Given the description of an element on the screen output the (x, y) to click on. 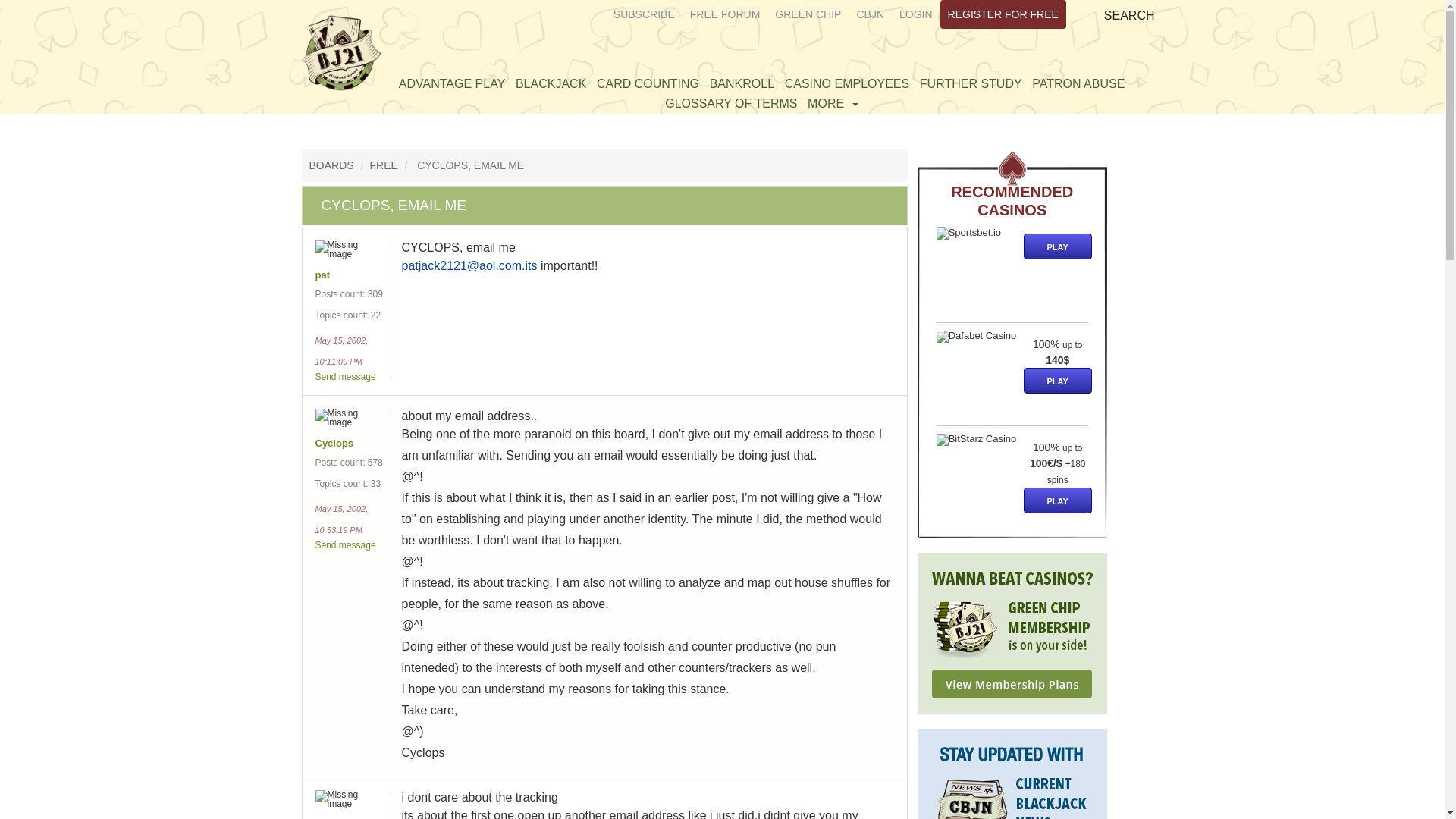
CARD COUNTING (647, 83)
BANKROLL (741, 83)
CBJN (869, 14)
CASINO EMPLOYEES (847, 83)
SUBSCRIBE (643, 14)
ADVANTAGE PLAY (451, 83)
BLACKJACK (550, 83)
LOGIN (915, 14)
REGISTER FOR FREE (1002, 14)
FREE FORUM (725, 14)
